Given the description of an element on the screen output the (x, y) to click on. 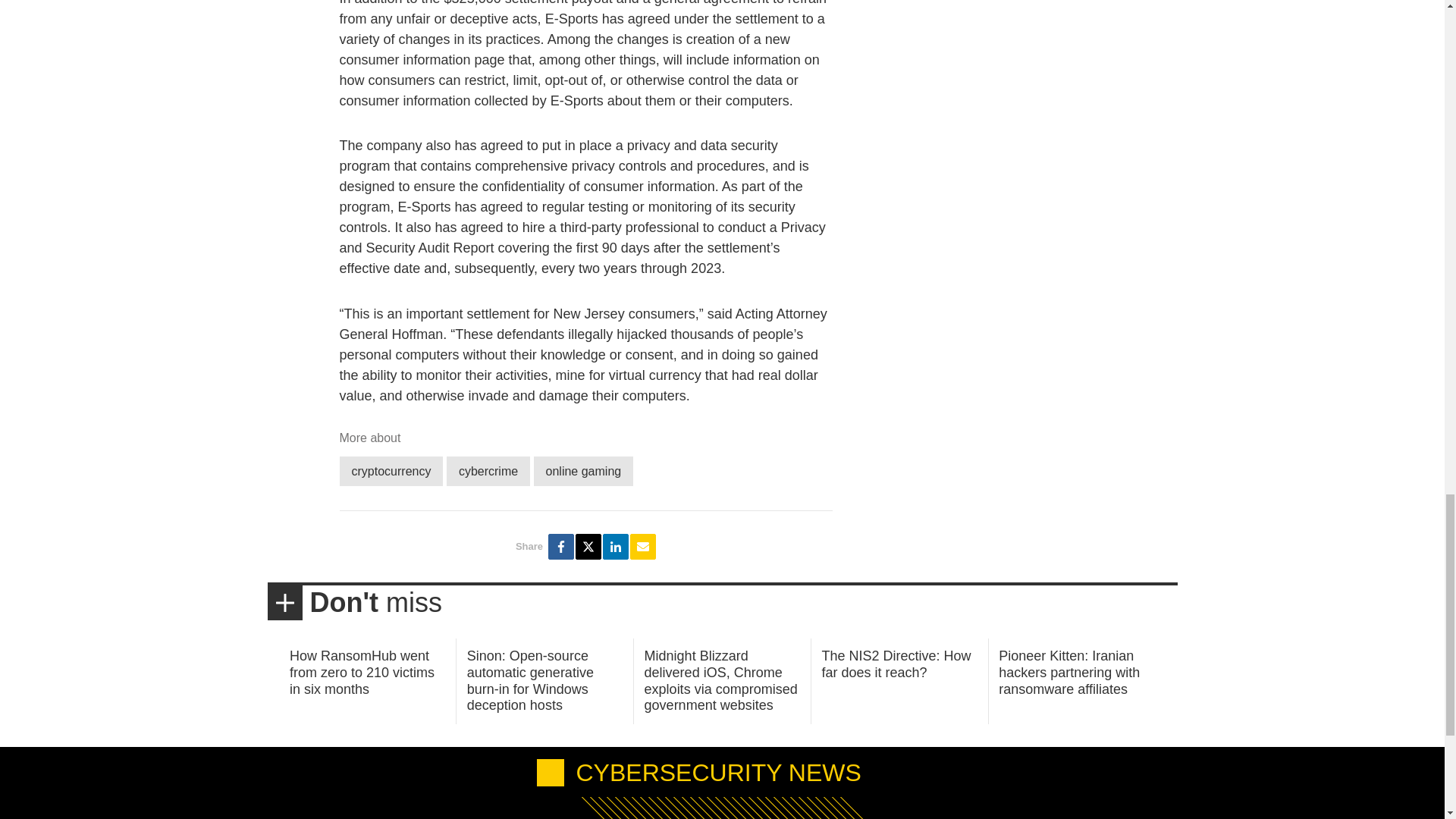
cryptocurrency (391, 471)
cryptocurrency (391, 471)
online gaming (583, 471)
online gaming (583, 471)
cybercrime (487, 471)
cybercrime (487, 471)
How RansomHub went from zero to 210 victims in six months (361, 672)
